Given the description of an element on the screen output the (x, y) to click on. 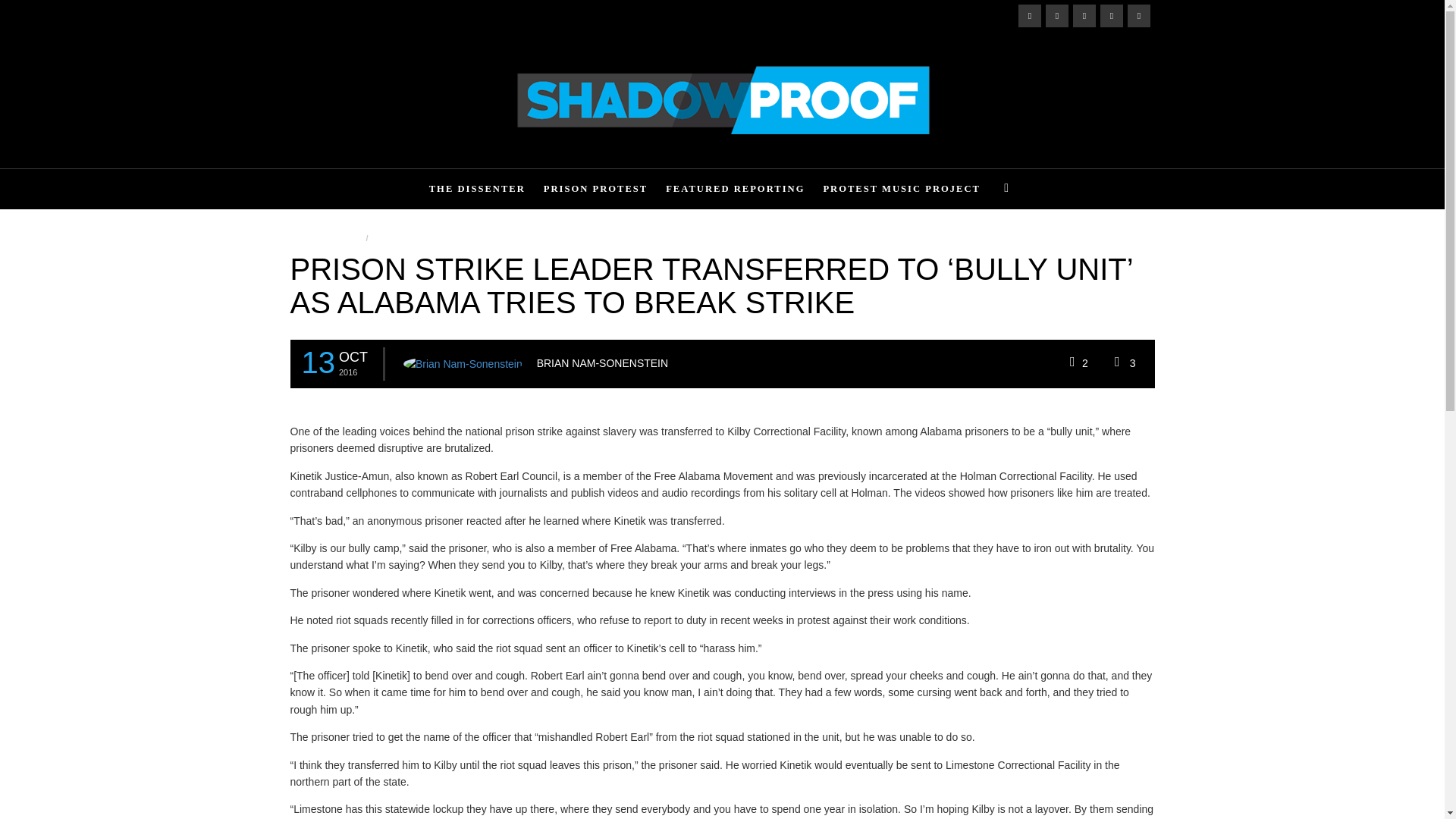
View all posts in Latest News (325, 237)
Facebook (1029, 15)
THE DISSENTER (477, 188)
LATEST NEWS (328, 15)
PRISON PROTEST (595, 188)
ABOUT (393, 15)
Instagram (1056, 15)
I like this (1077, 363)
View all posts in Prison Protest (413, 237)
View all posts by Brian Nam-Sonenstein (462, 363)
